Given the description of an element on the screen output the (x, y) to click on. 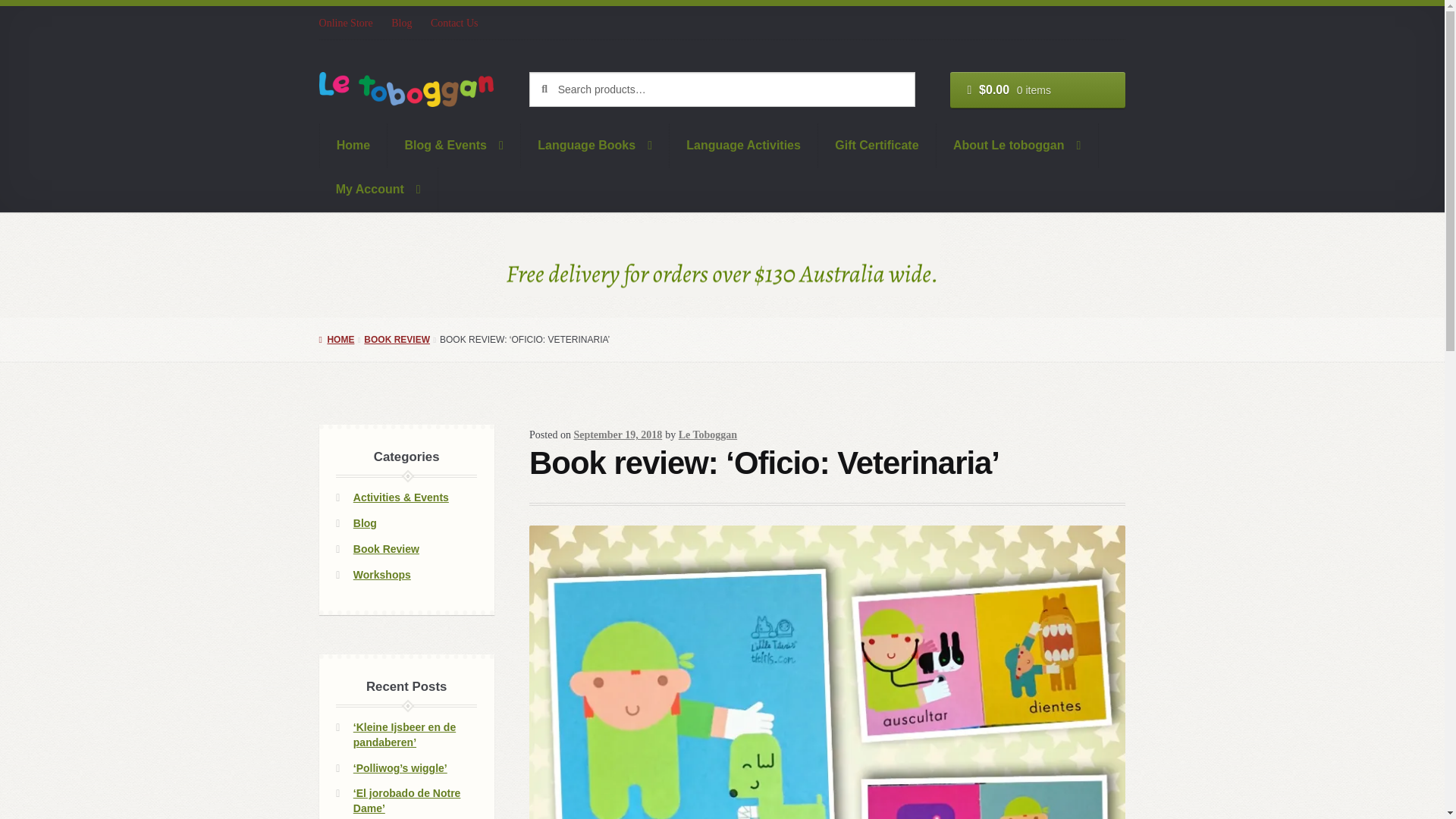
Language Activities (743, 145)
Blog (401, 23)
Home (353, 145)
View your shopping cart (1037, 90)
Online Store (349, 23)
Contact Us (454, 23)
Gift Certificate (877, 145)
About Le toboggan (1017, 145)
Language Books (595, 145)
